Given the description of an element on the screen output the (x, y) to click on. 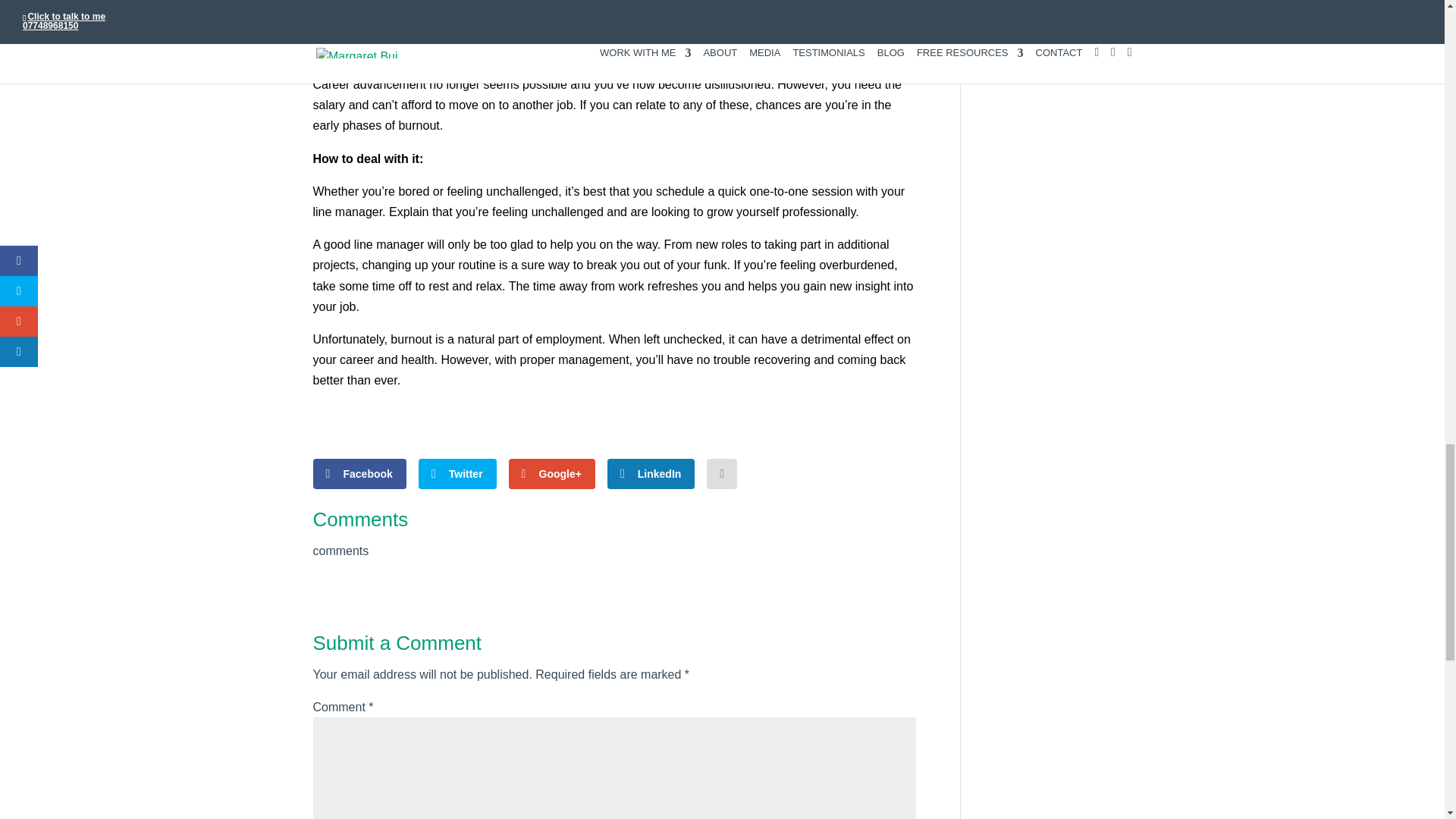
LinkedIn (651, 473)
Twitter (457, 473)
Facebook (359, 473)
